Given the description of an element on the screen output the (x, y) to click on. 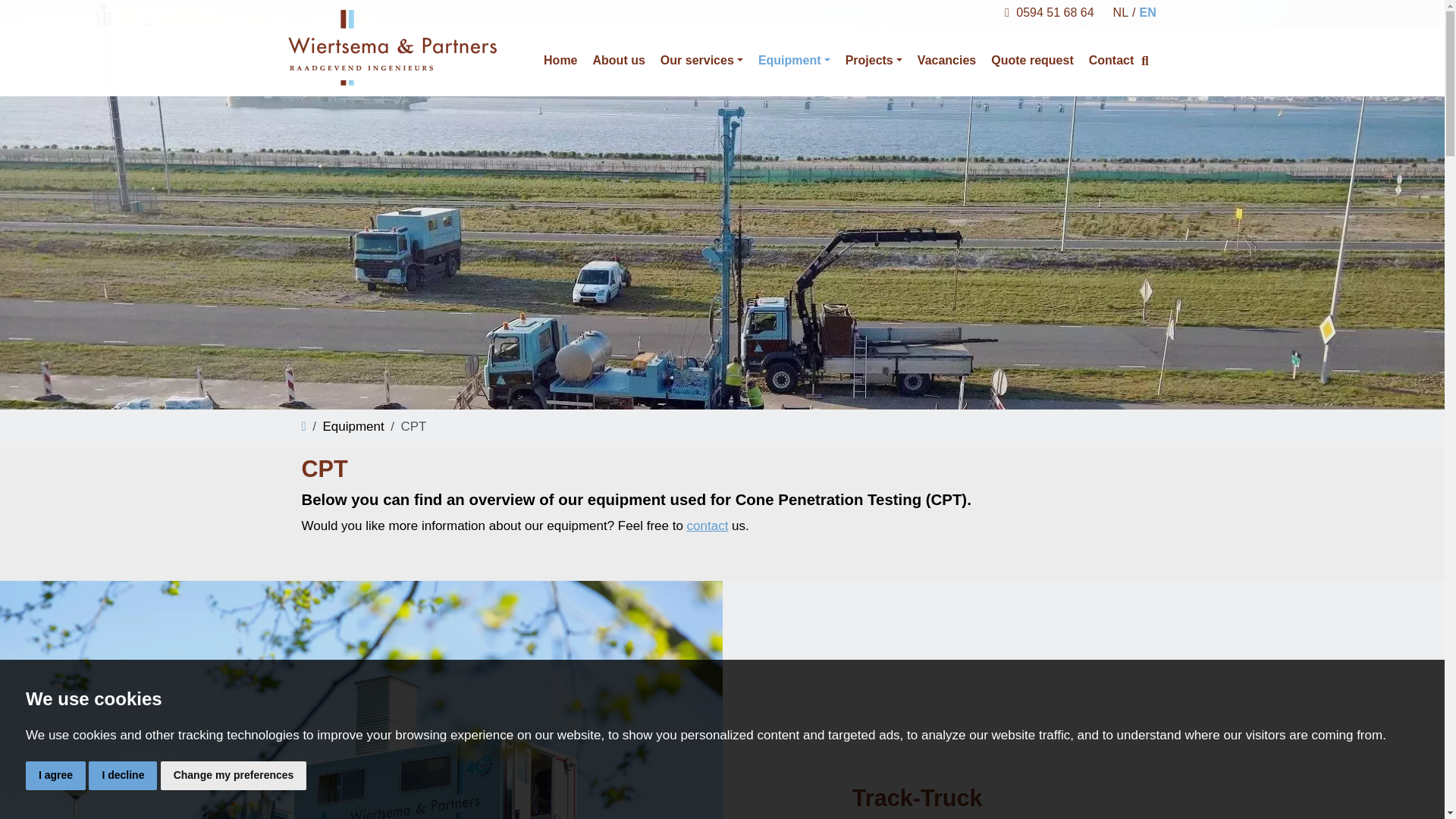
NL (1118, 13)
Home (560, 60)
EN (1145, 13)
About us (618, 60)
